Given the description of an element on the screen output the (x, y) to click on. 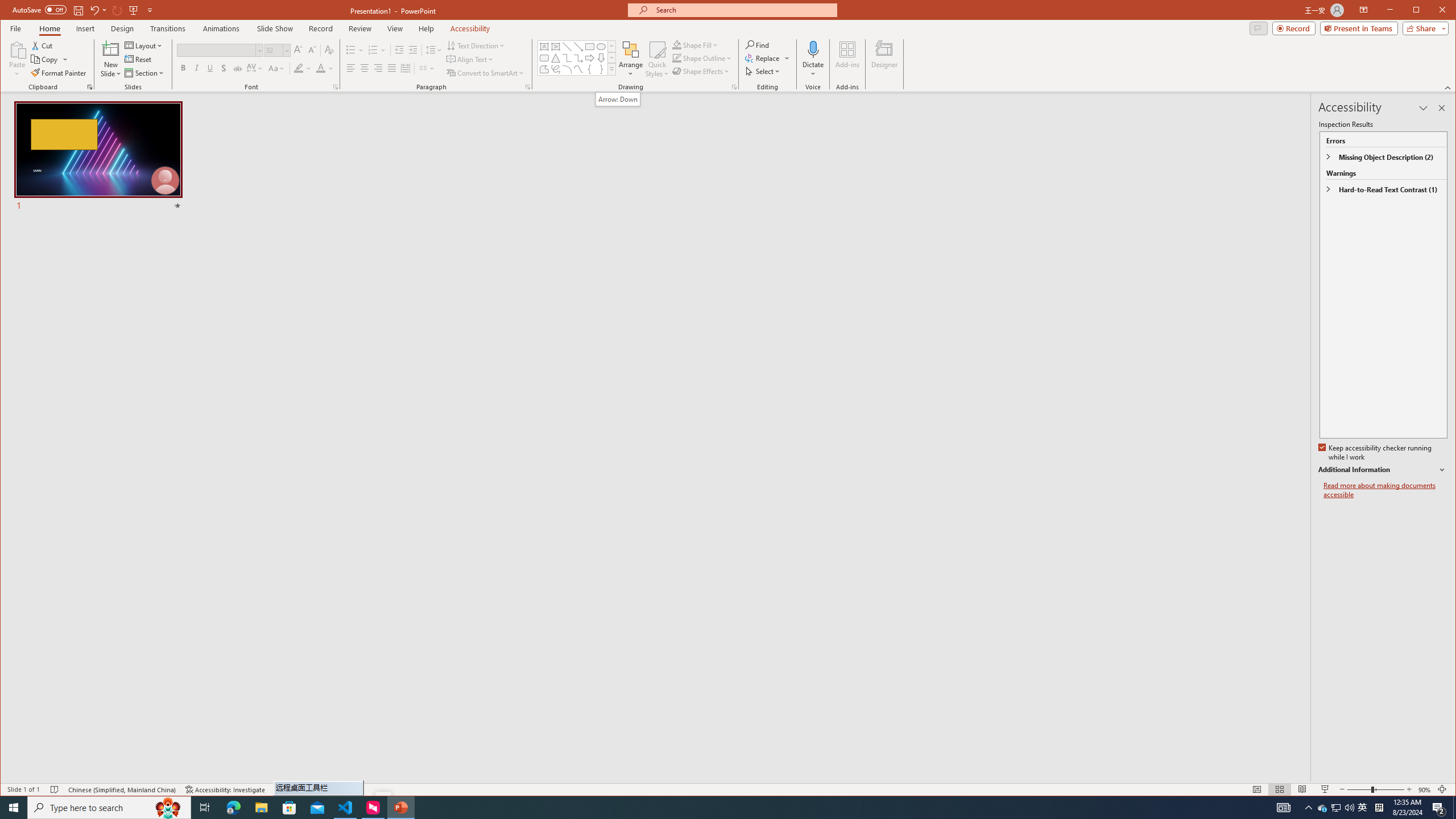
Italic (196, 68)
Bold (182, 68)
Action Center, 2 new notifications (1439, 807)
